Given the description of an element on the screen output the (x, y) to click on. 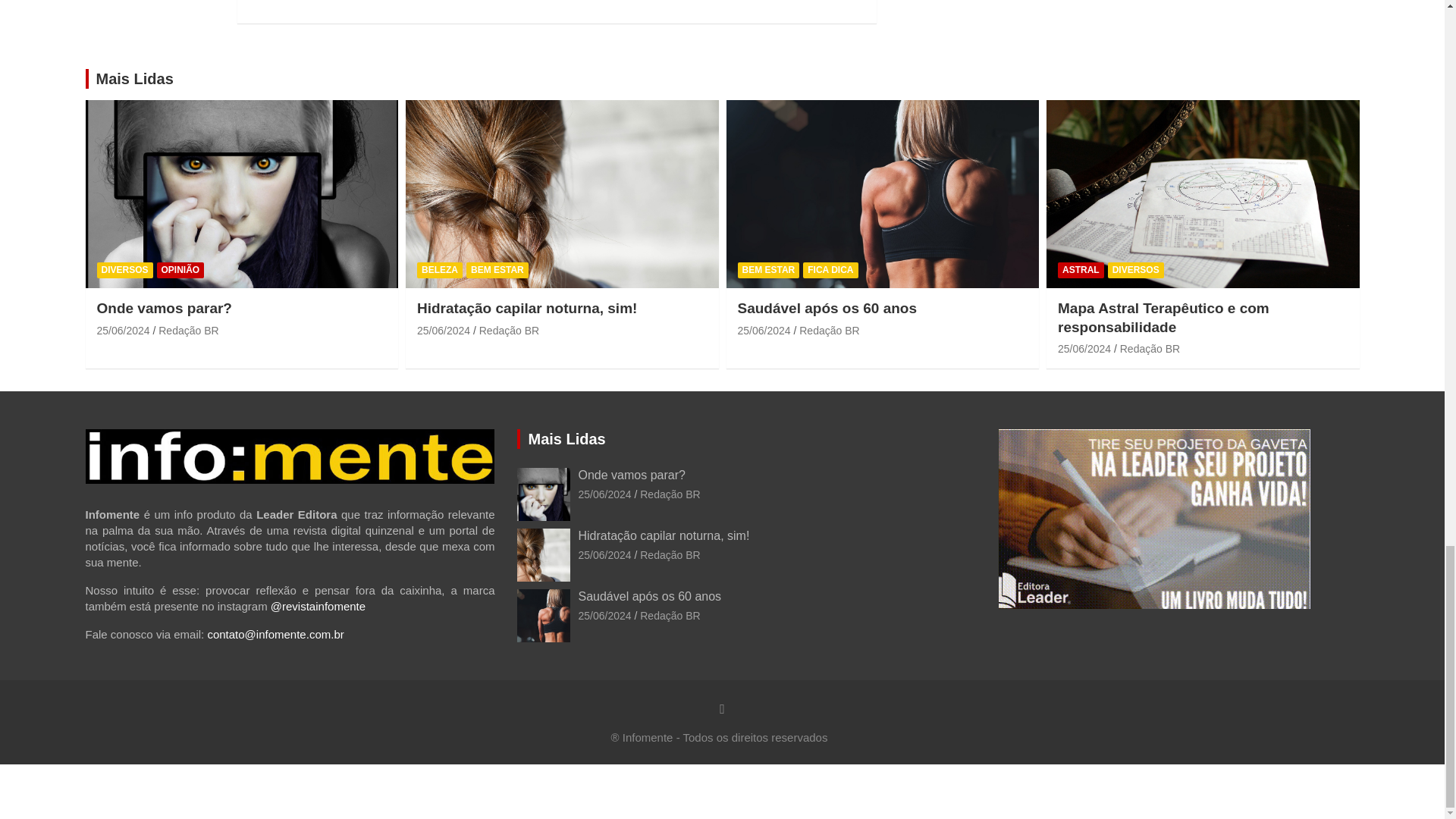
Onde vamos parar? (123, 330)
